Given the description of an element on the screen output the (x, y) to click on. 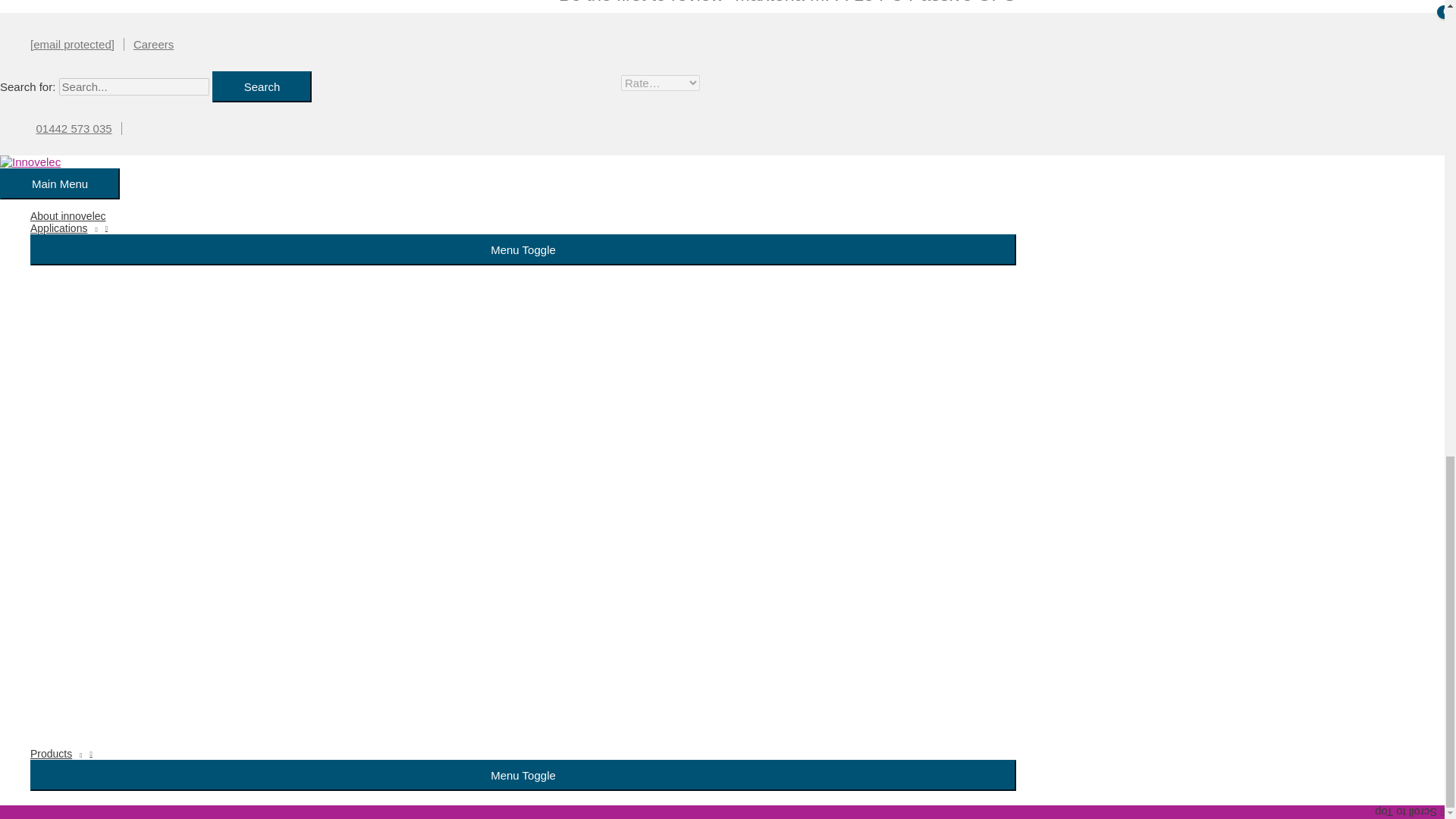
Submit (608, 322)
yes (567, 288)
